Given the description of an element on the screen output the (x, y) to click on. 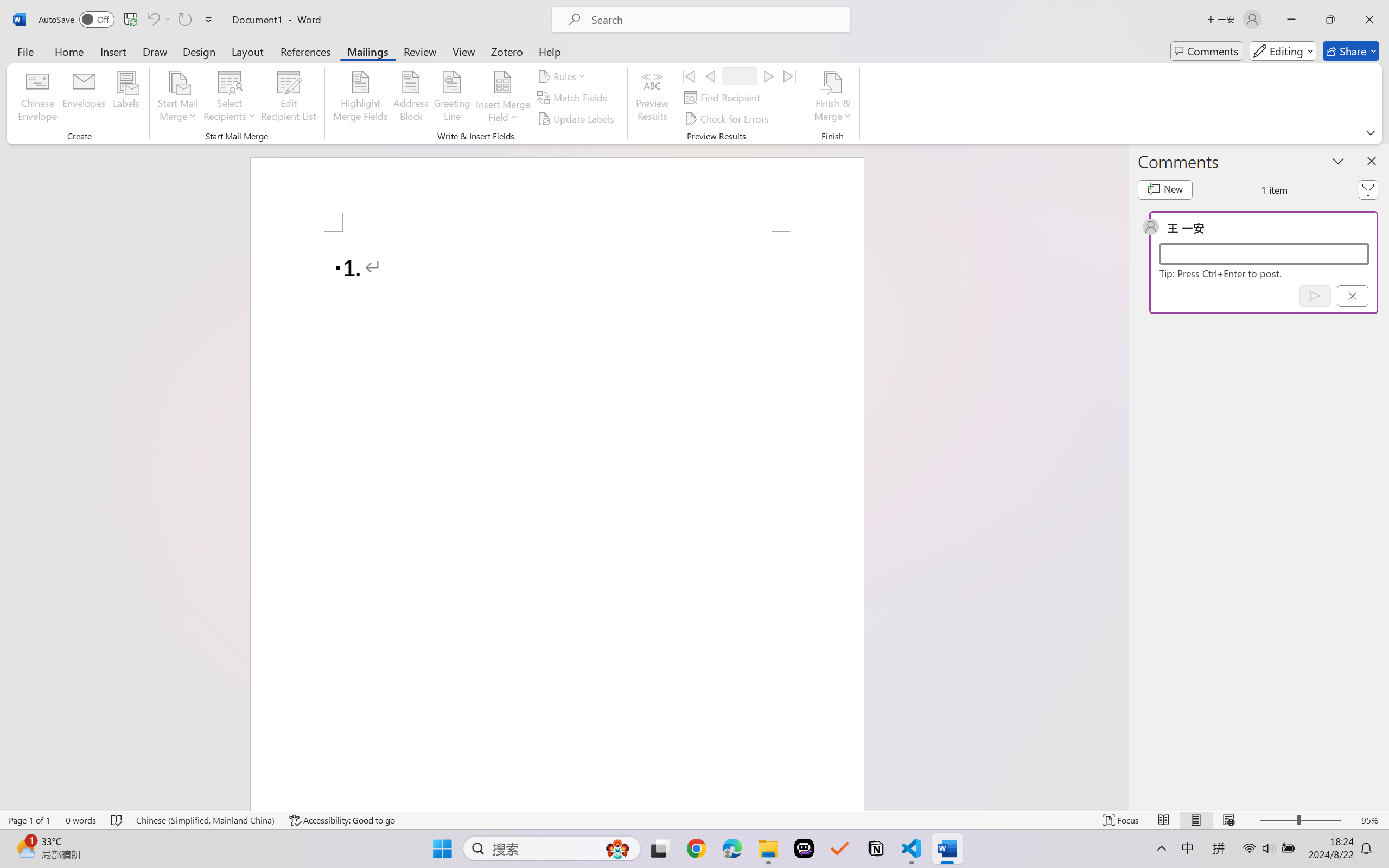
Record (739, 76)
Greeting Line... (451, 97)
Finish & Merge (832, 97)
Update Labels (576, 118)
Envelopes... (84, 97)
Filter (1367, 189)
Start a conversation (1263, 254)
